Given the description of an element on the screen output the (x, y) to click on. 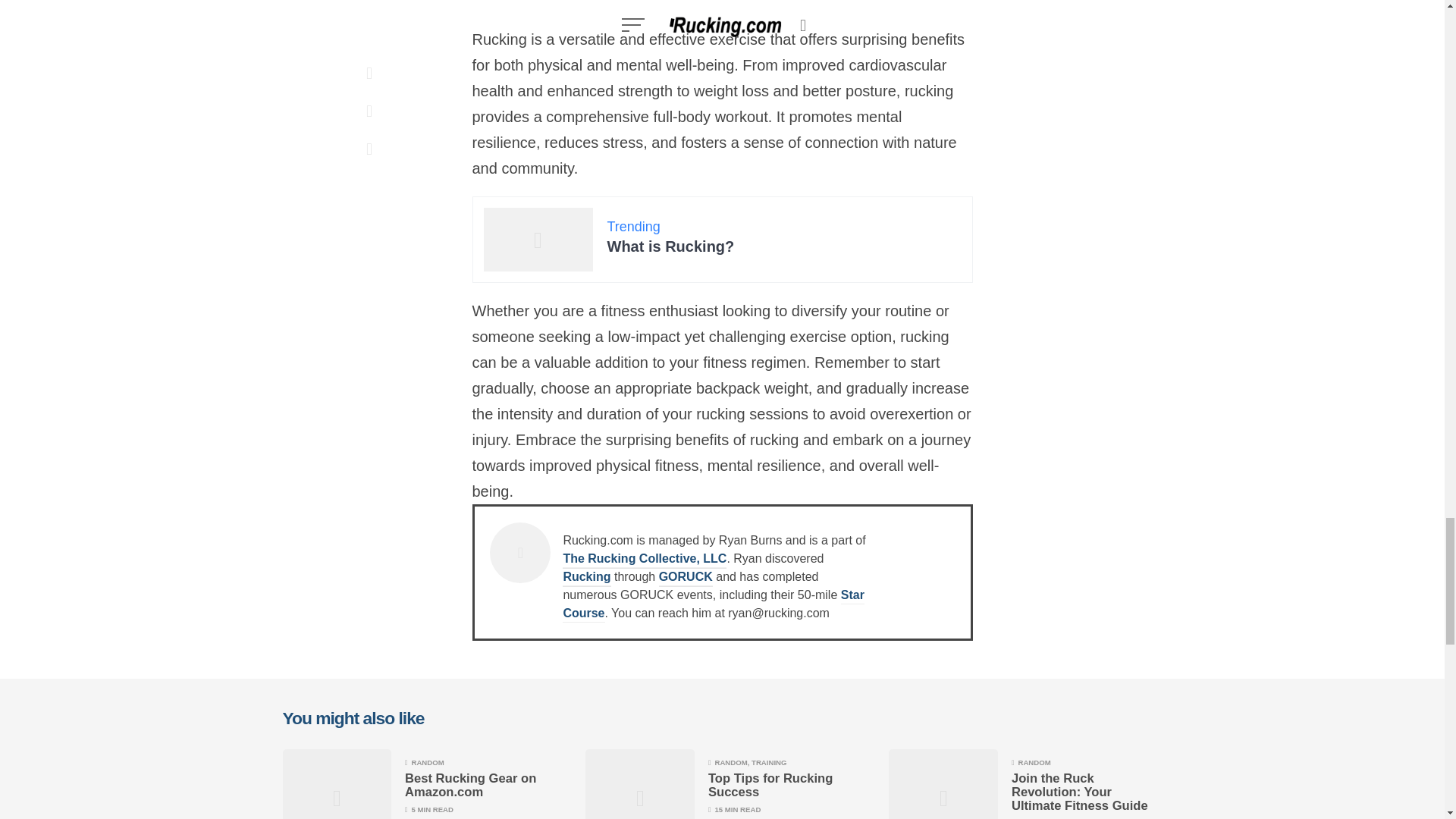
The Rucking Collective, LLC (644, 560)
RANDOM (1033, 762)
Top Tips for Rucking Success (769, 785)
TRAINING (768, 762)
Rucking (586, 578)
RANDOM (730, 762)
Star Course (713, 605)
GORUCK (686, 578)
What is Rucking? (670, 246)
RANDOM (427, 762)
